Given the description of an element on the screen output the (x, y) to click on. 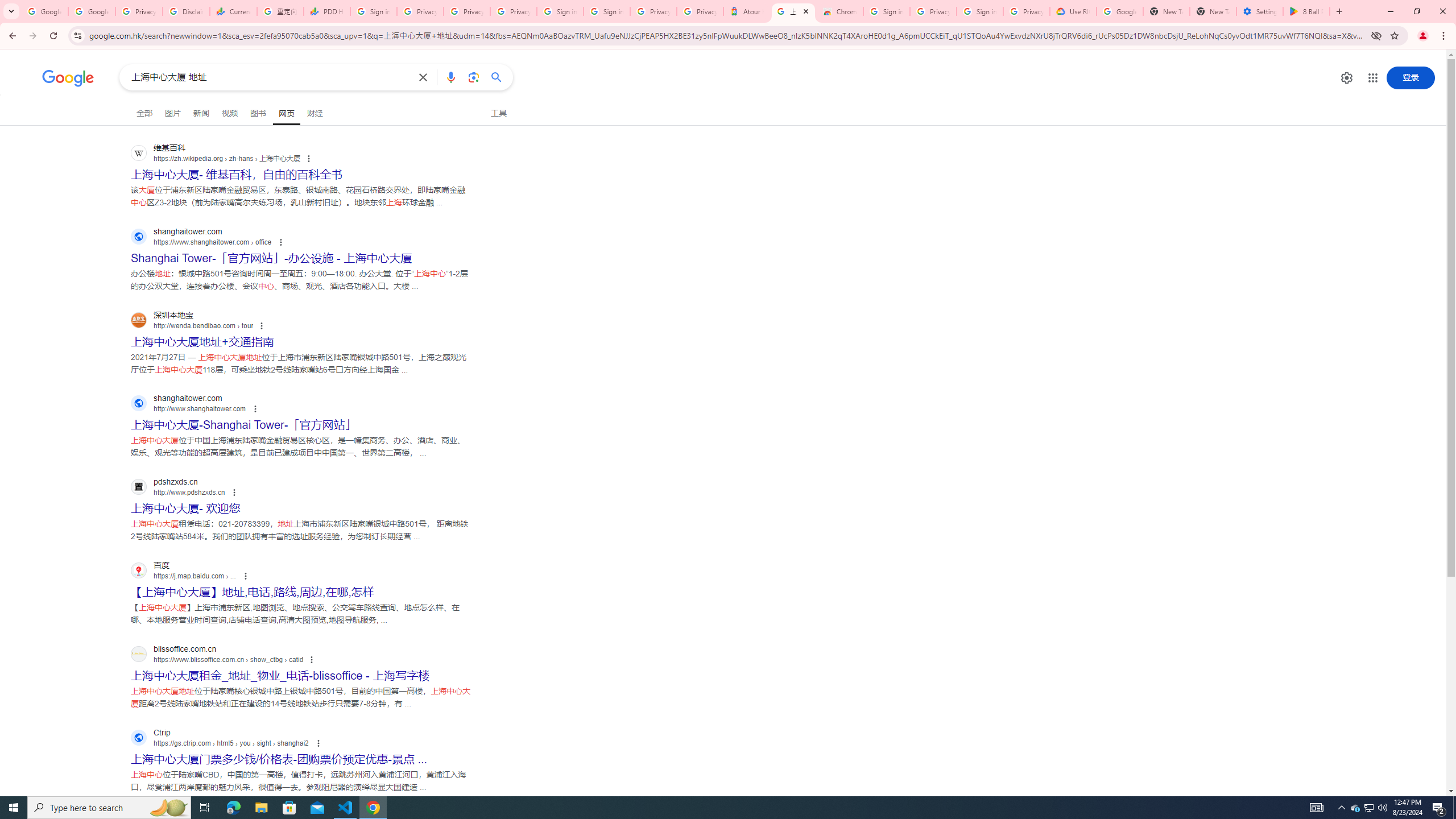
Atour Hotel - Google hotels (745, 11)
Privacy Checkup (466, 11)
